Given the description of an element on the screen output the (x, y) to click on. 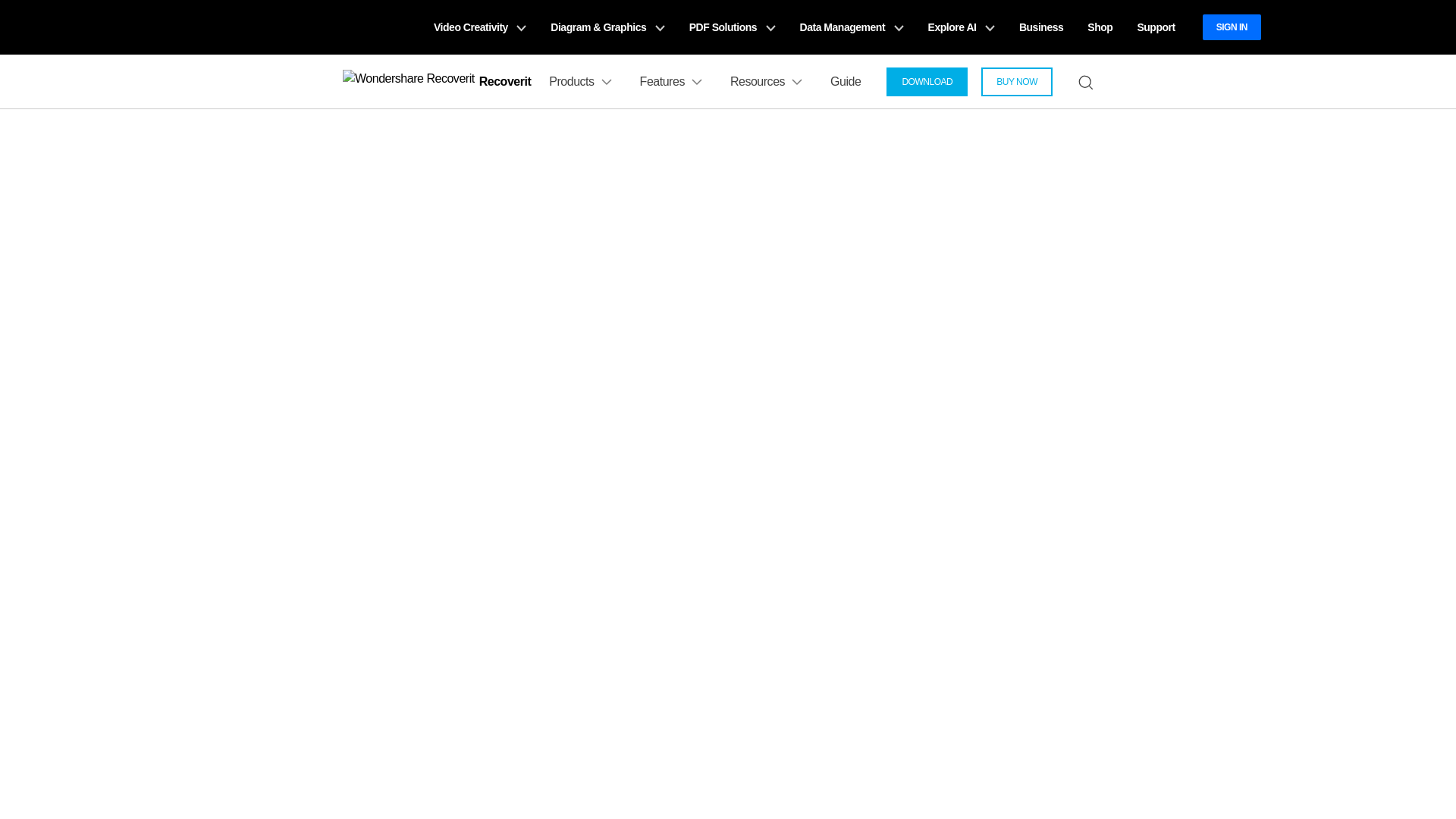
Business (1041, 27)
Video Creativity (480, 27)
Explore AI (961, 27)
PDF Solutions (732, 27)
Data Management (851, 27)
